Given the description of an element on the screen output the (x, y) to click on. 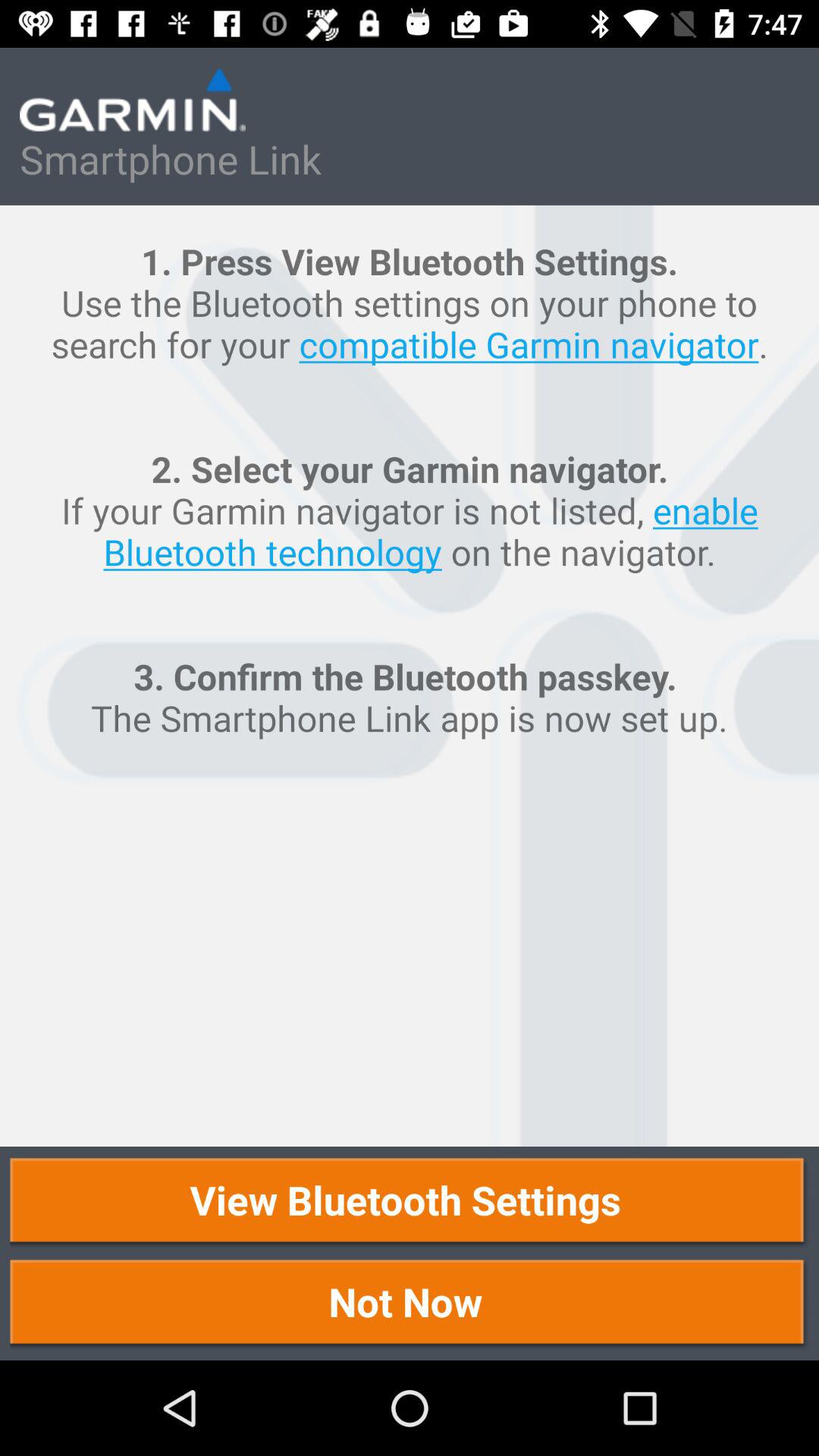
click the icon below smartphone link icon (409, 675)
